Given the description of an element on the screen output the (x, y) to click on. 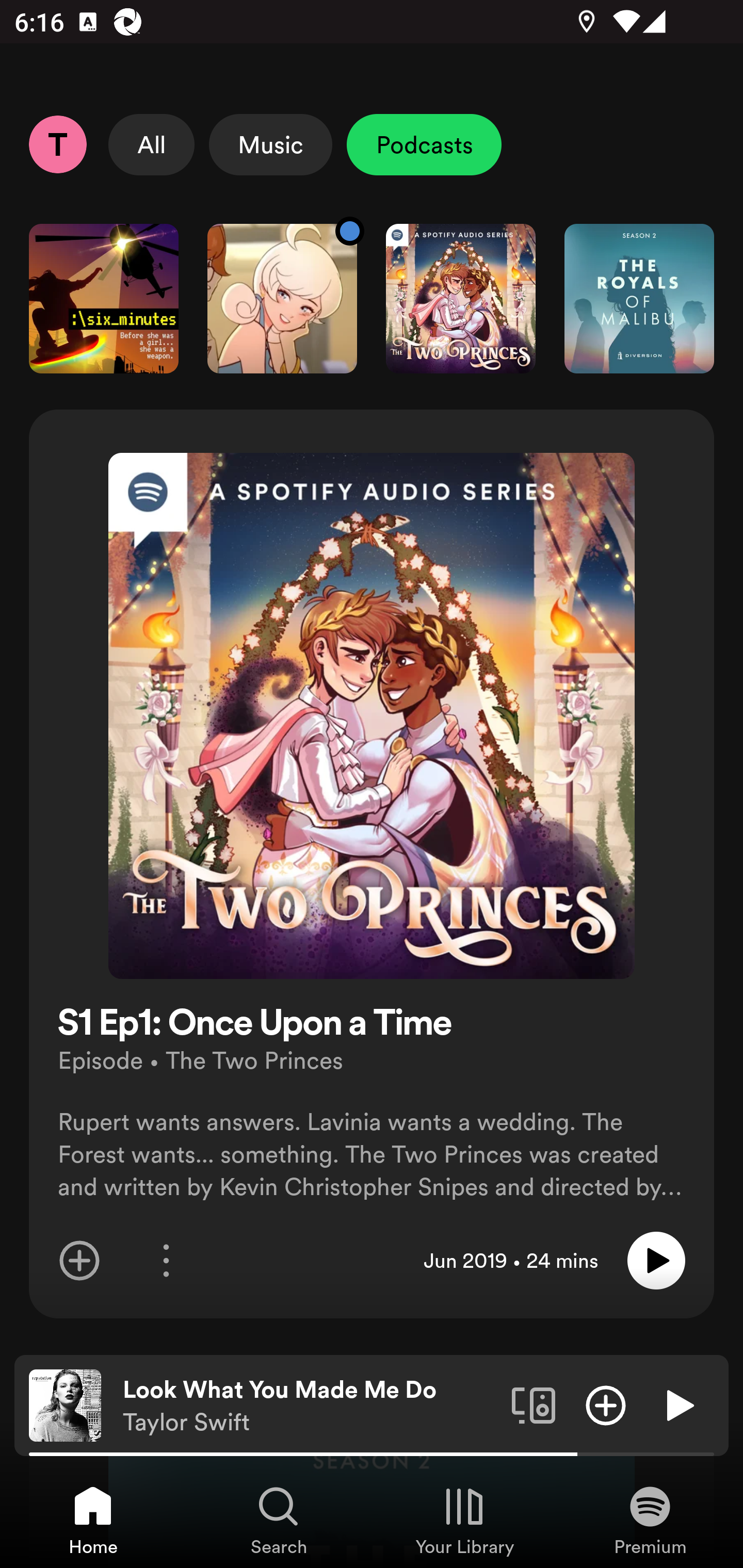
Profile (57, 144)
All Select All (151, 144)
Music Select Music (270, 144)
Podcasts Unselect Podcasts (423, 144)
Six Minutes (103, 298)
MSA  New content (281, 298)
The Two Princes (460, 298)
The Royals of Malibu (639, 298)
Add item (79, 1260)
Play (655, 1260)
Look What You Made Me Do Taylor Swift (309, 1405)
The cover art of the currently playing track (64, 1404)
Connect to a device. Opens the devices menu (533, 1404)
Add item (605, 1404)
Play (677, 1404)
Home, Tab 1 of 4 Home Home (92, 1519)
Search, Tab 2 of 4 Search Search (278, 1519)
Your Library, Tab 3 of 4 Your Library Your Library (464, 1519)
Premium, Tab 4 of 4 Premium Premium (650, 1519)
